Given the description of an element on the screen output the (x, y) to click on. 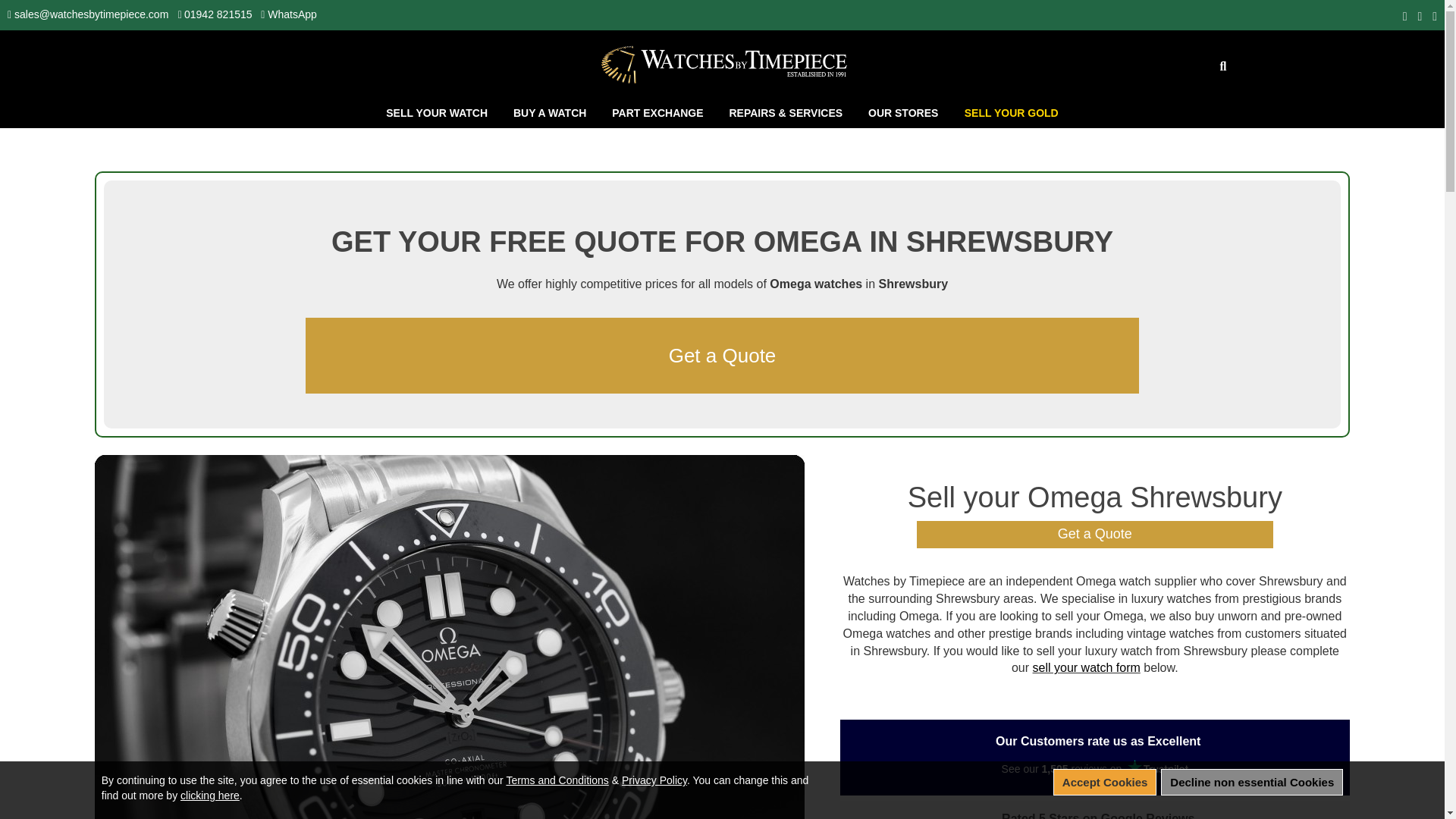
WhatsApp (292, 14)
SELL YOUR WATCH (438, 112)
BUY A WATCH (550, 112)
01942 821515 (217, 14)
